Given the description of an element on the screen output the (x, y) to click on. 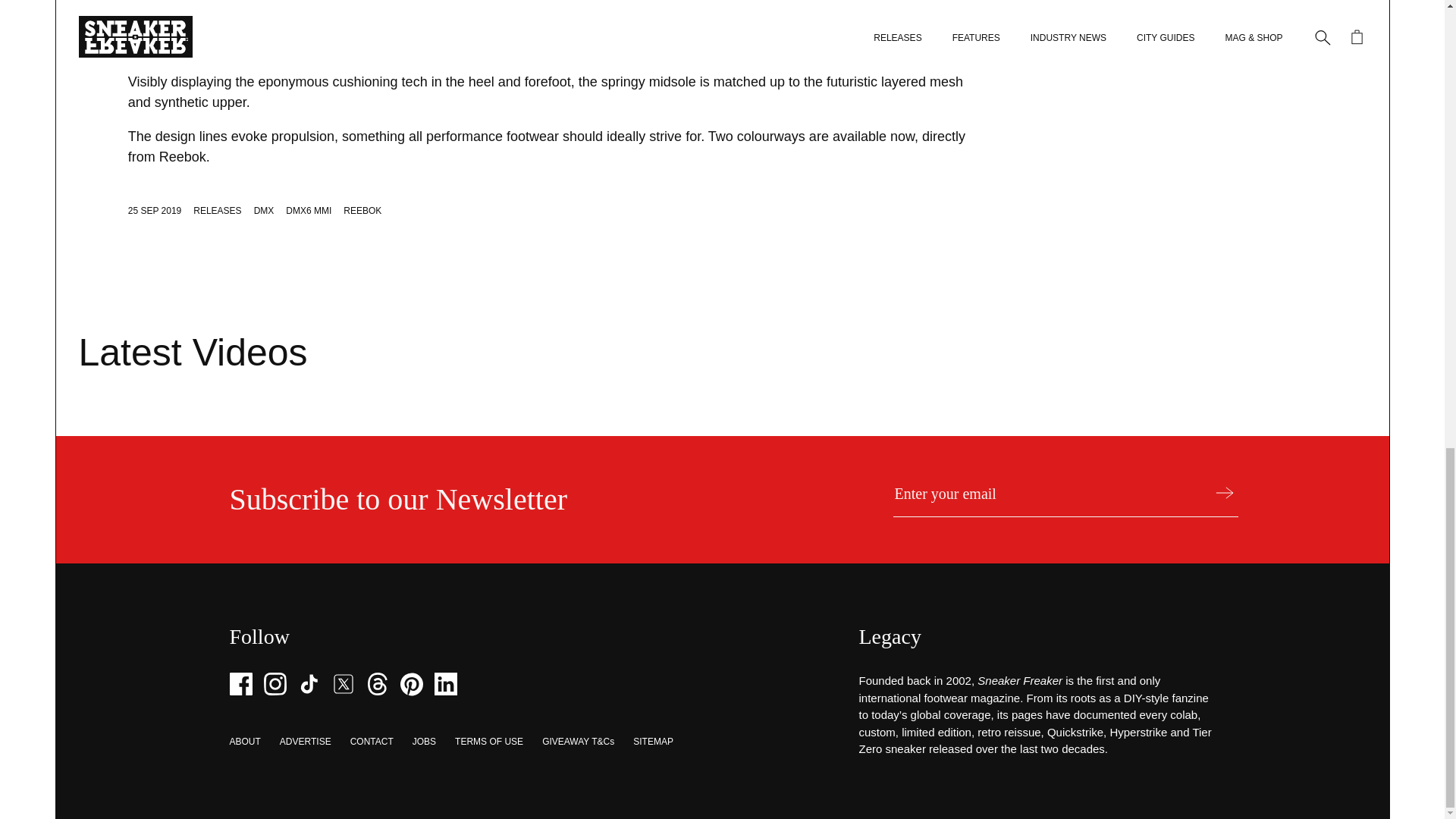
DMX (264, 210)
JOBS (423, 741)
TERMS OF USE (488, 741)
RELEASES (217, 210)
DMX6 MMI (308, 210)
REEBOK (362, 210)
ADVERTISE (305, 741)
SITEMAP (652, 741)
ABOUT (244, 741)
CONTACT (371, 741)
